Given the description of an element on the screen output the (x, y) to click on. 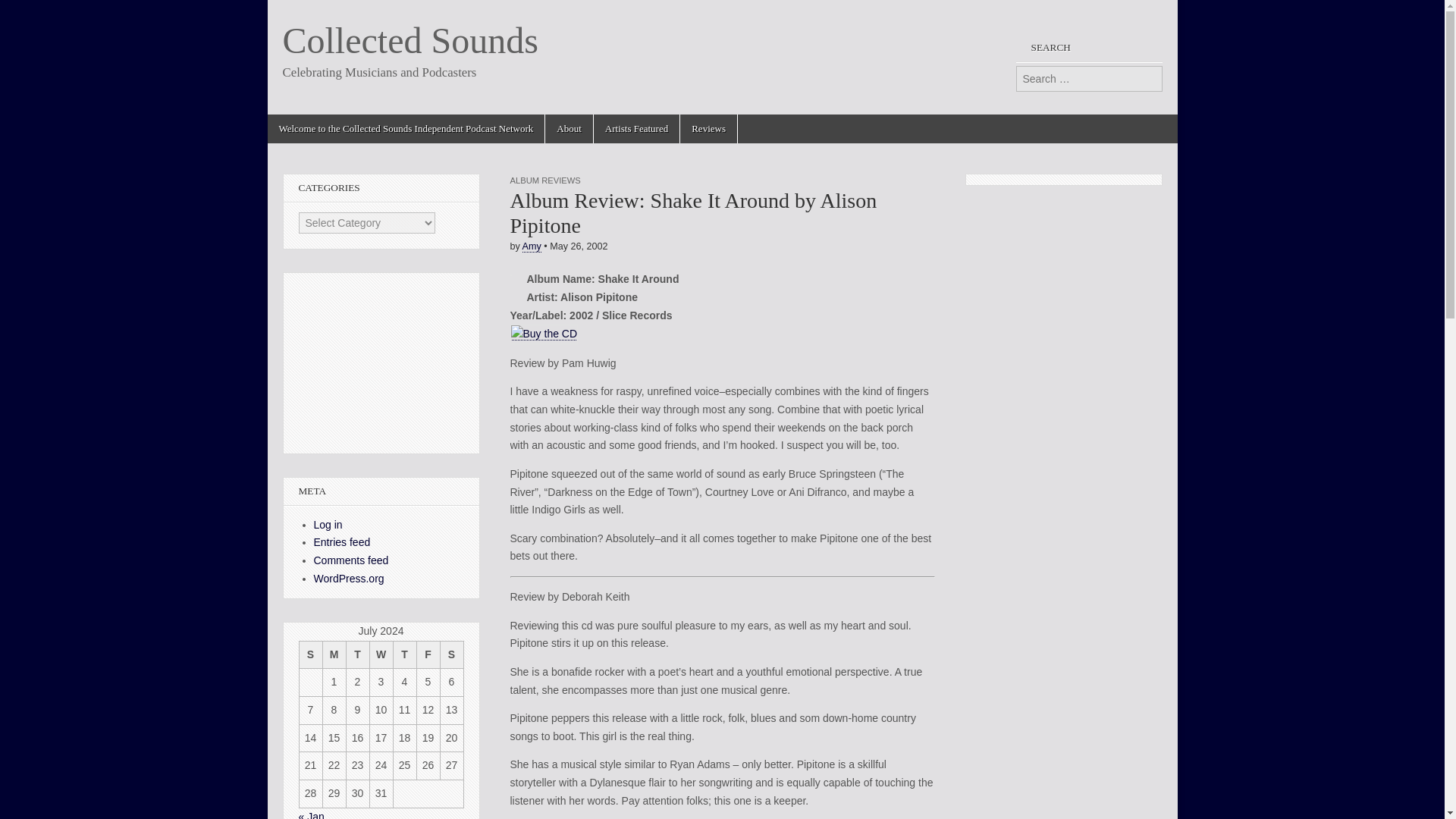
Comments feed (351, 560)
WordPress.org (349, 578)
Posts by Amy (531, 246)
Amy (531, 246)
Collected Sounds (409, 40)
Search (23, 12)
Reviews (707, 128)
ALBUM REVIEWS (544, 180)
Artists Featured (636, 128)
Welcome to the Collected Sounds Independent Podcast Network (405, 128)
Collected Sounds (409, 40)
About (568, 128)
Log in (328, 524)
